Given the description of an element on the screen output the (x, y) to click on. 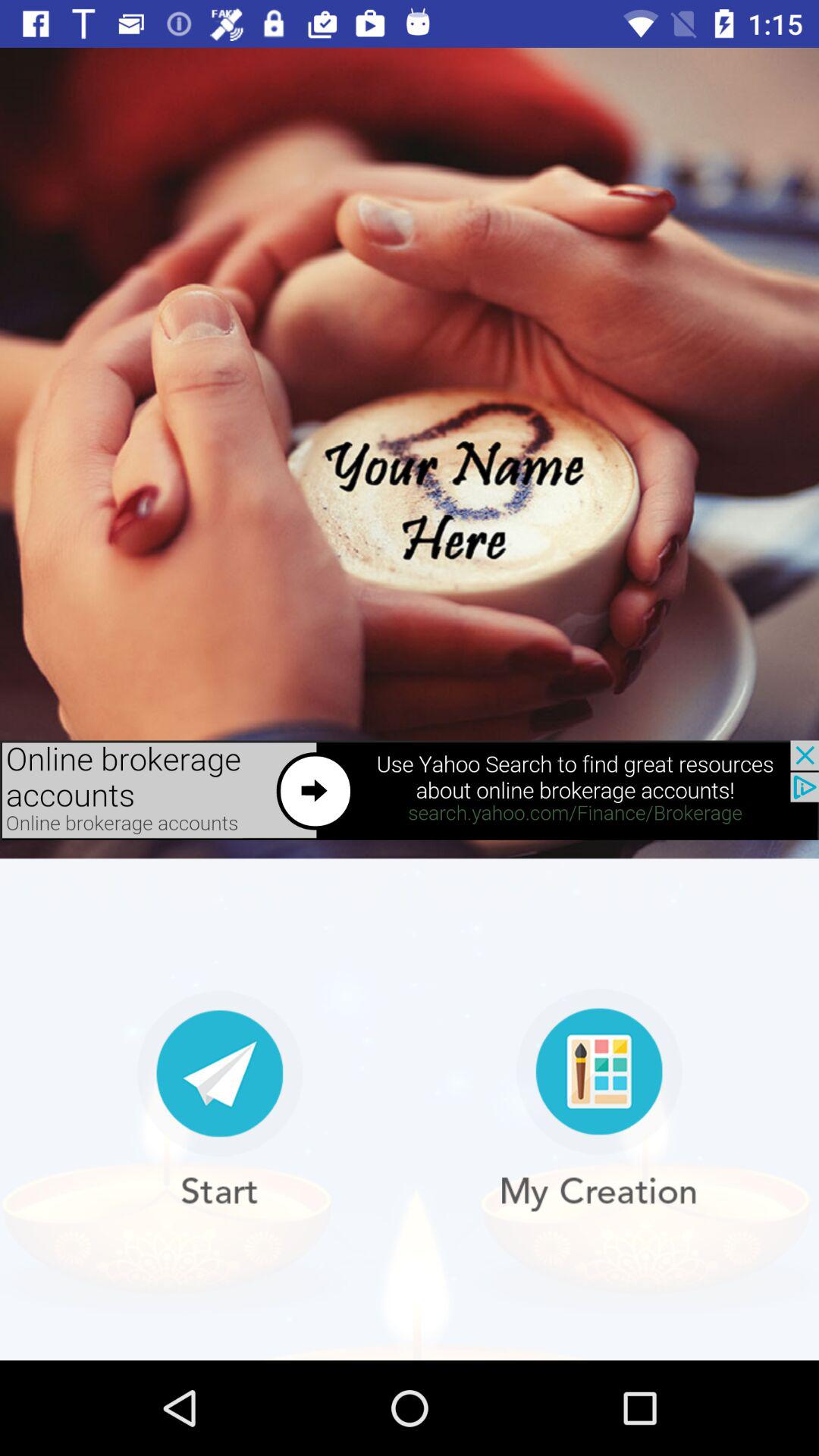
advertisement banner (409, 790)
